Given the description of an element on the screen output the (x, y) to click on. 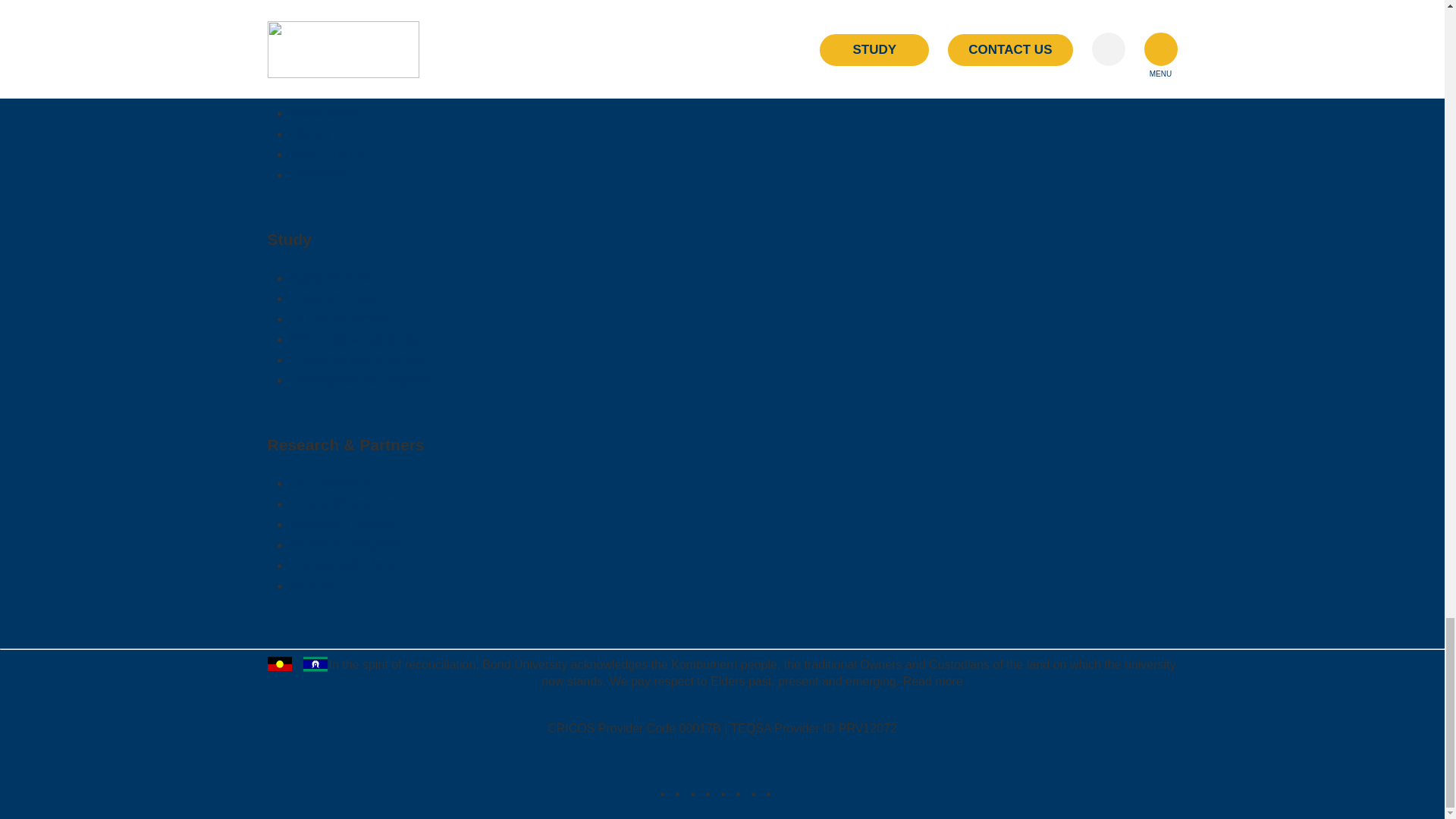
Visit Bond University on Weibo (786, 792)
Postgraduate degrees (356, 359)
Apply at Bond (331, 277)
Program Finder (336, 297)
Visit Bond University on YouTube (741, 792)
Our study areas (338, 318)
Library (310, 133)
Visit Bond University on Facebook (680, 792)
Feedback (319, 174)
International students (354, 338)
Visit Bond University on WeChat (771, 792)
Campus map (330, 92)
Our research (329, 482)
Visit Bond University on Twitter (756, 792)
Staff Intranet (328, 153)
